Given the description of an element on the screen output the (x, y) to click on. 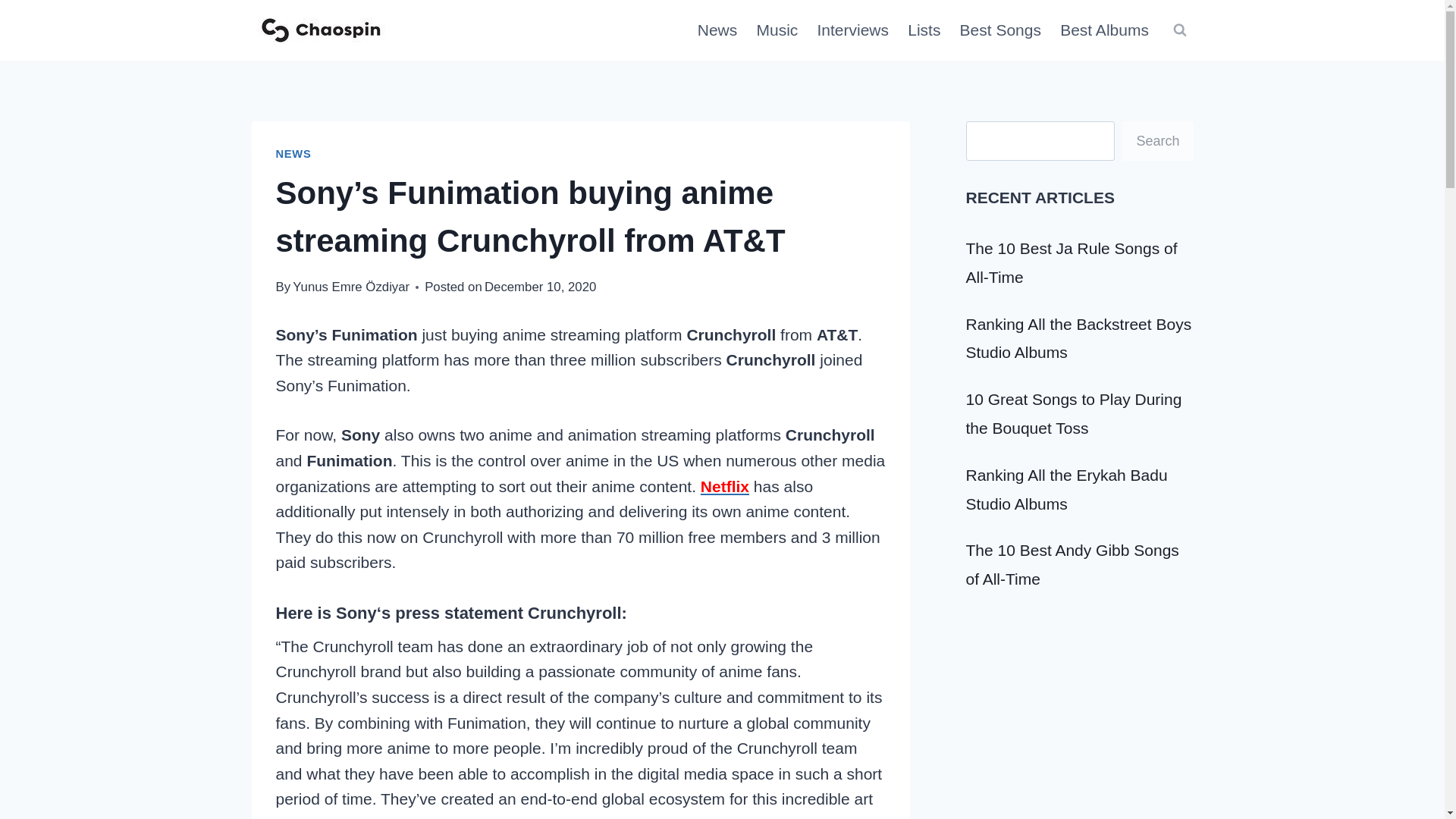
NEWS (293, 153)
Interviews (853, 30)
Netflix (724, 486)
Lists (924, 30)
Best Albums (1104, 30)
News (716, 30)
Best Songs (1000, 30)
Music (777, 30)
Sony (356, 612)
